Given the description of an element on the screen output the (x, y) to click on. 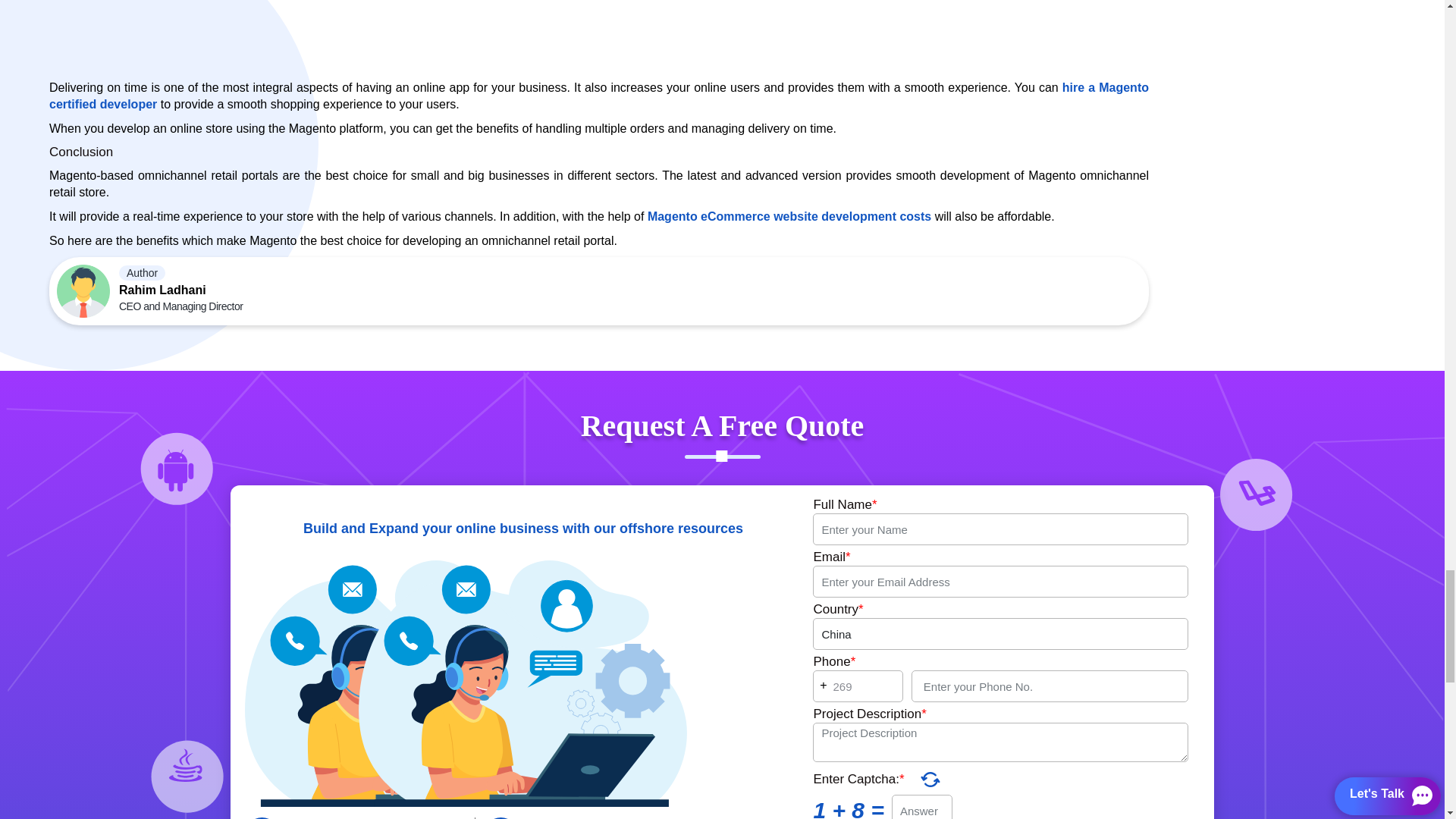
269 (857, 685)
